Given the description of an element on the screen output the (x, y) to click on. 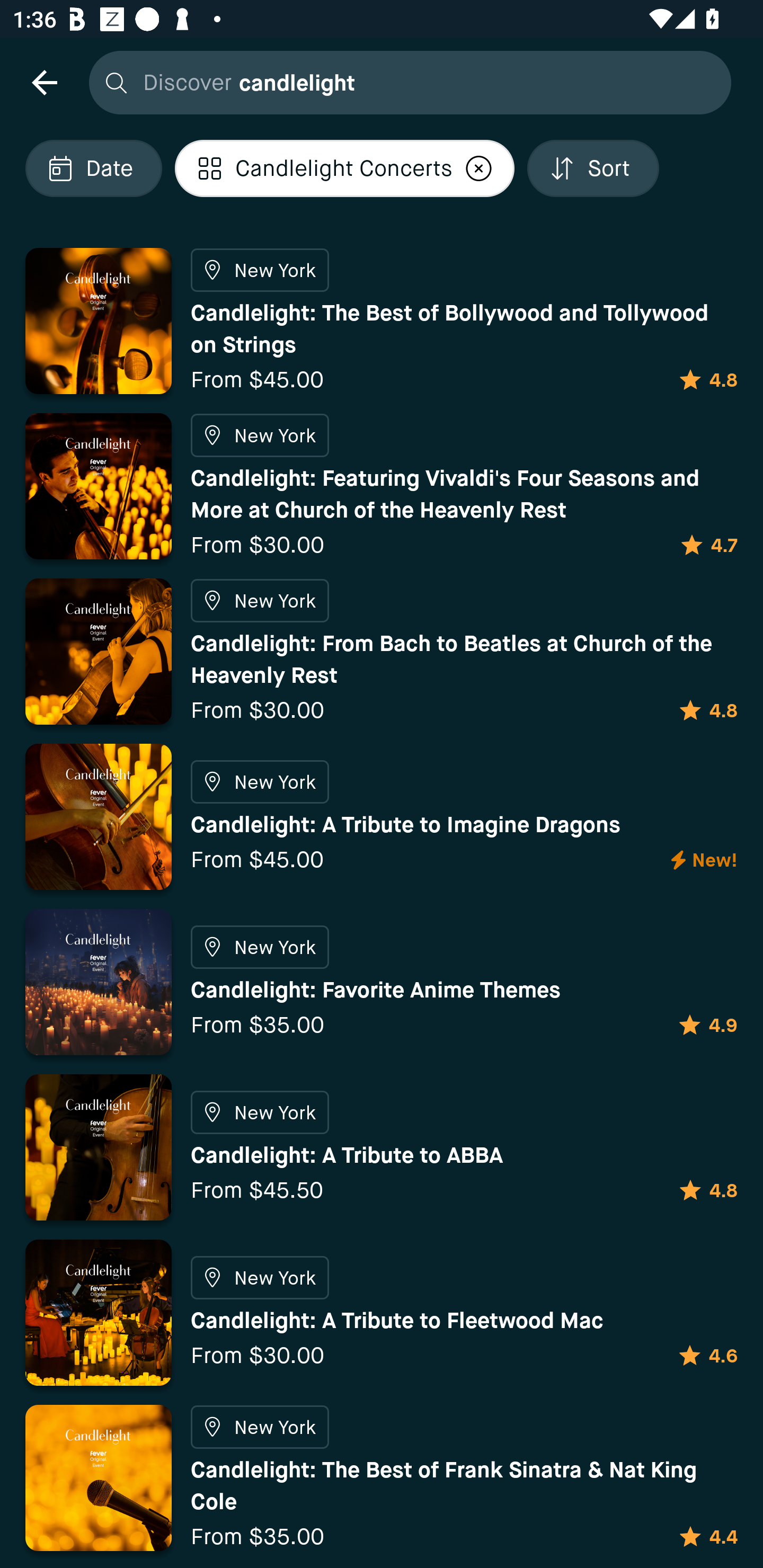
navigation icon (44, 81)
Discover candlelight (405, 81)
Localized description Date (93, 168)
Localized description (479, 168)
Localized description Sort (593, 168)
